Given the description of an element on the screen output the (x, y) to click on. 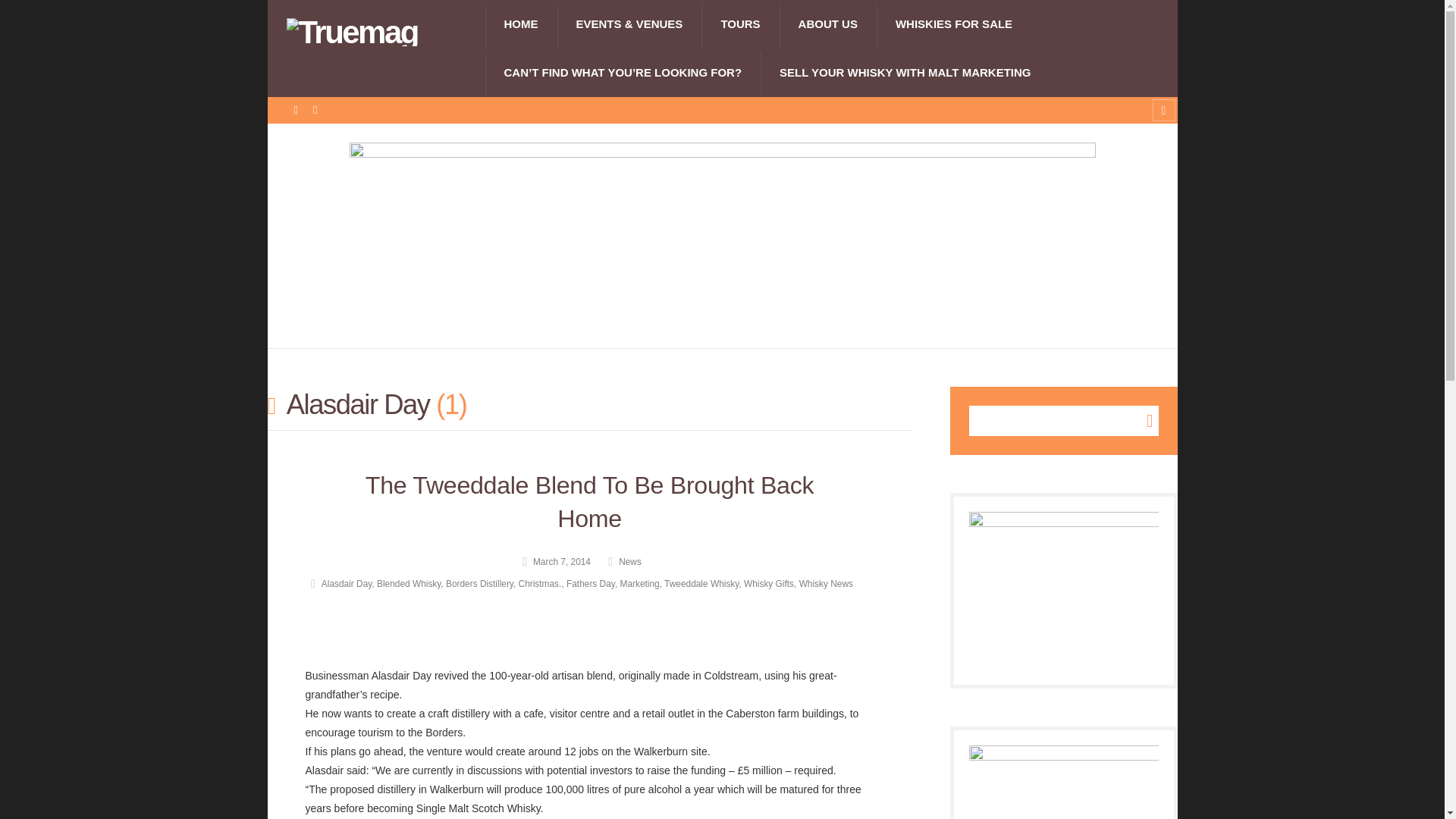
WHISKIES FOR SALE (953, 24)
Search (1142, 420)
The Tweeddale Blend To Be Brought Back Home (589, 501)
HOME (520, 24)
TOURS (739, 24)
Search (1142, 420)
Whisky Gifts (768, 583)
Whisky News (826, 583)
Alasdair Day (337, 583)
ABOUT US (827, 24)
SELL YOUR WHISKY WITH MALT MARKETING (904, 72)
Borders Distillery (479, 583)
Fathers Day (590, 583)
News (620, 561)
Blended Whisky (409, 583)
